Given the description of an element on the screen output the (x, y) to click on. 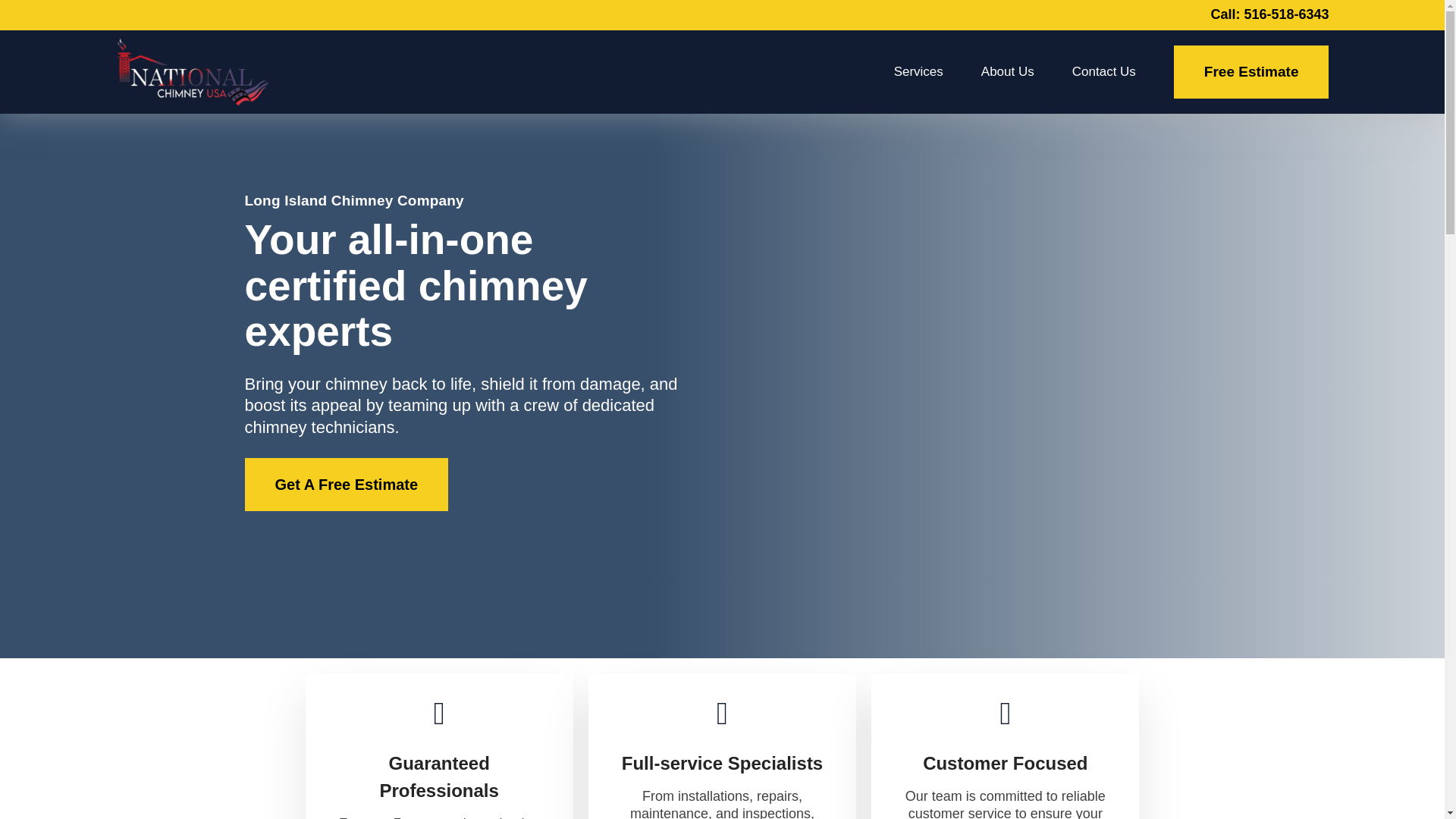
Call: 516-518-6343 (1268, 14)
About Us (1007, 71)
Services (918, 71)
Contact Us (1103, 71)
Get A Free Estimate (346, 484)
Free Estimate (1251, 71)
